Given the description of an element on the screen output the (x, y) to click on. 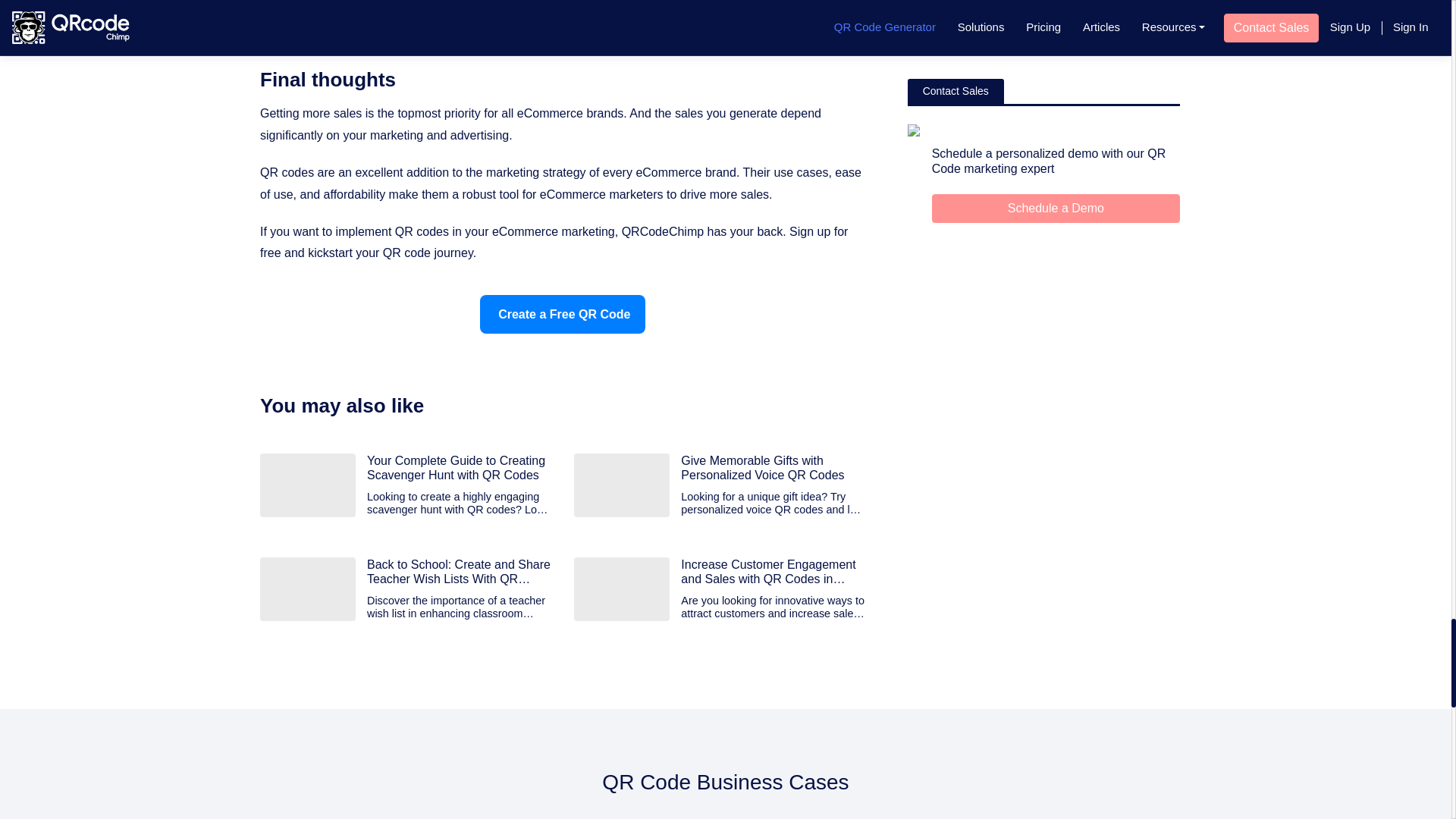
Give Memorable Gifts with Personalized Voice QR Codes (772, 467)
Your Complete Guide to Creating Scavenger Hunt with QR Codes (458, 467)
Create a Free QR Code (562, 313)
